Given the description of an element on the screen output the (x, y) to click on. 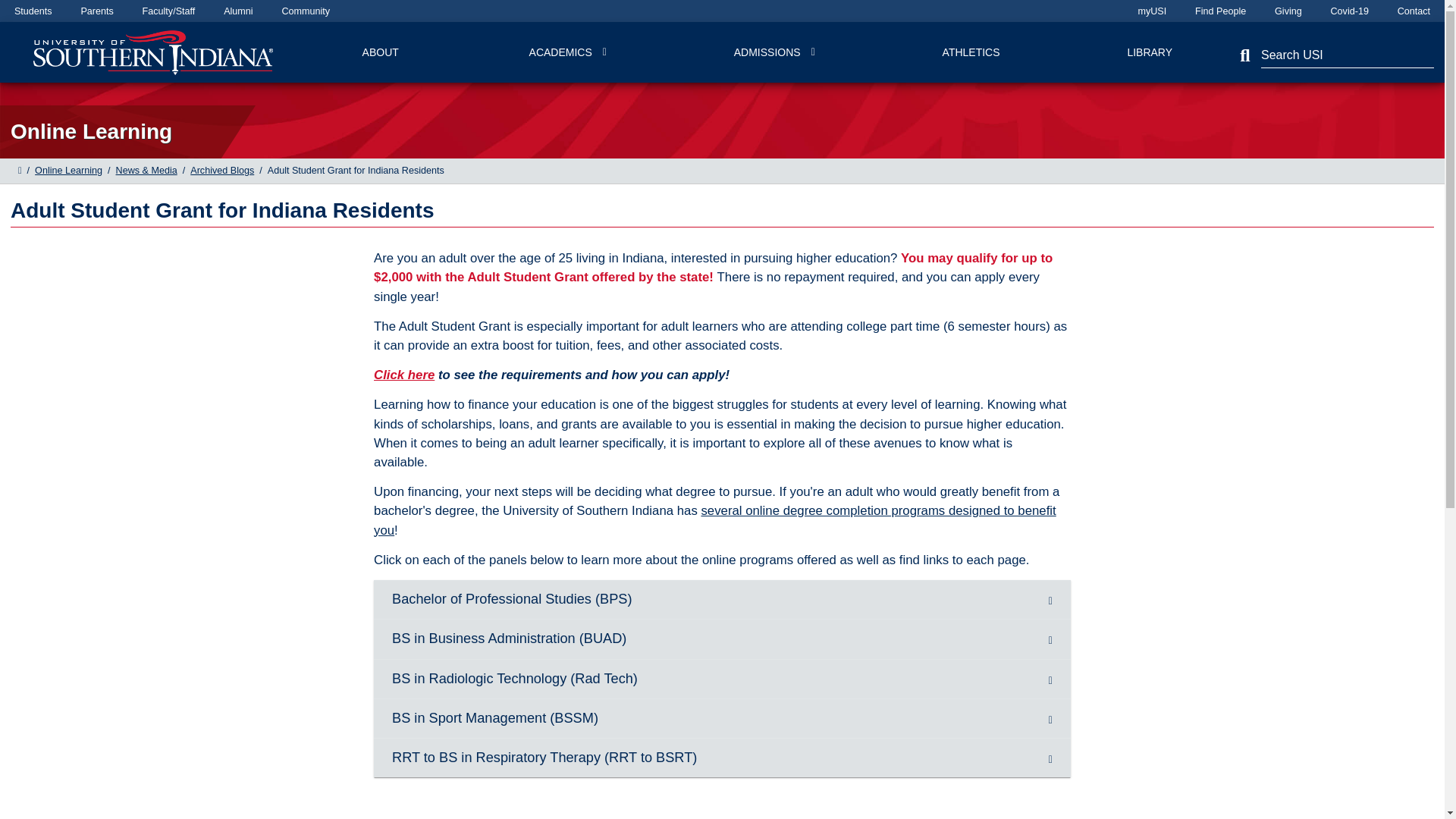
3 Reasons to Enroll in a Degree Completion Program (715, 520)
Contact (1413, 10)
ADMISSIONS (774, 52)
Parents (96, 10)
Find People (1220, 10)
Students (33, 10)
Alumni (238, 10)
ABOUT (380, 52)
ATHLETICS (971, 52)
ACADEMICS (567, 52)
Giving (1288, 10)
Community (305, 10)
myUSI (1151, 10)
Covid-19 (1349, 10)
LIBRARY (1149, 52)
